Given the description of an element on the screen output the (x, y) to click on. 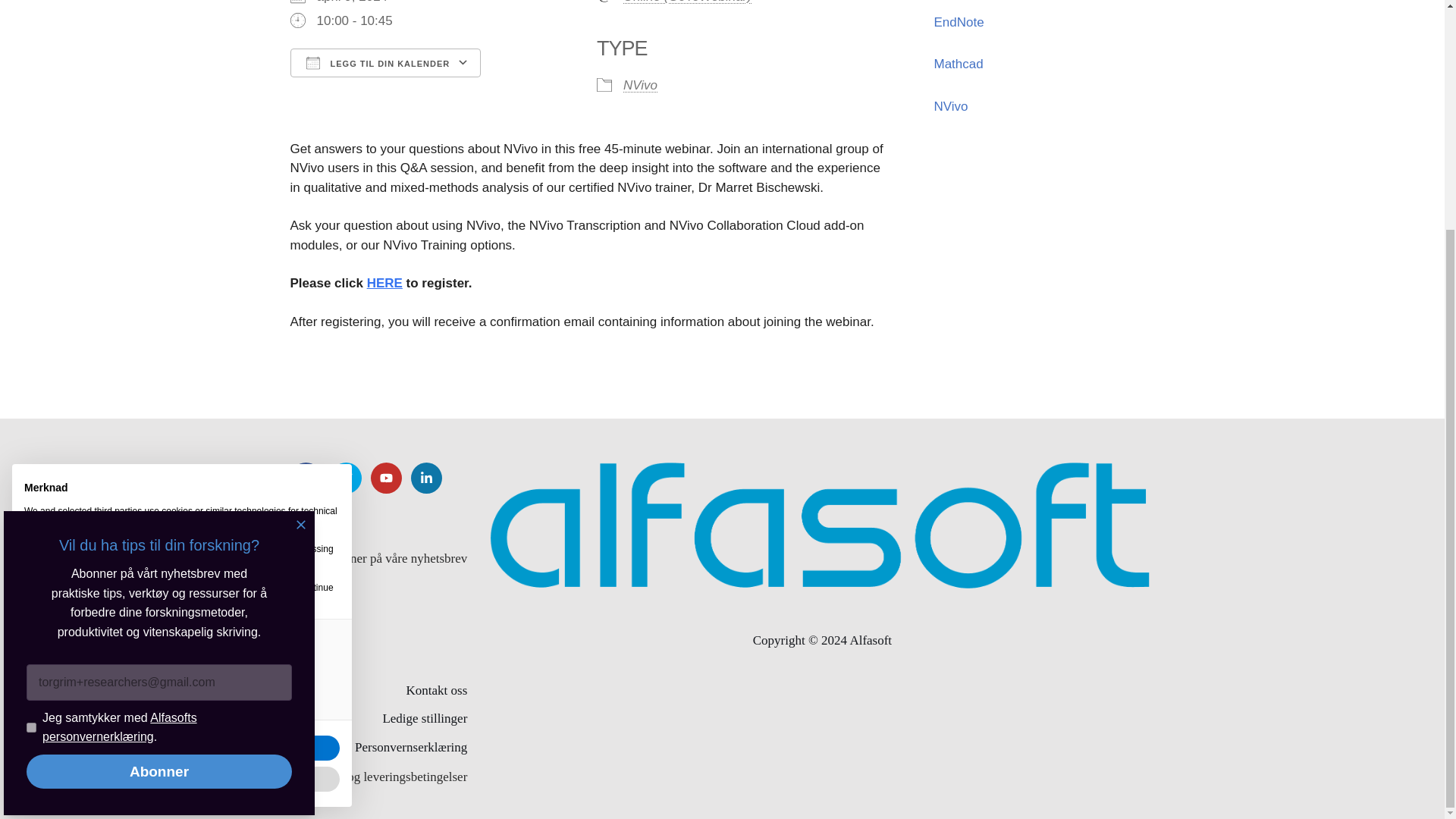
false (42, 360)
false (42, 331)
false (42, 389)
Abonner (159, 461)
